Given the description of an element on the screen output the (x, y) to click on. 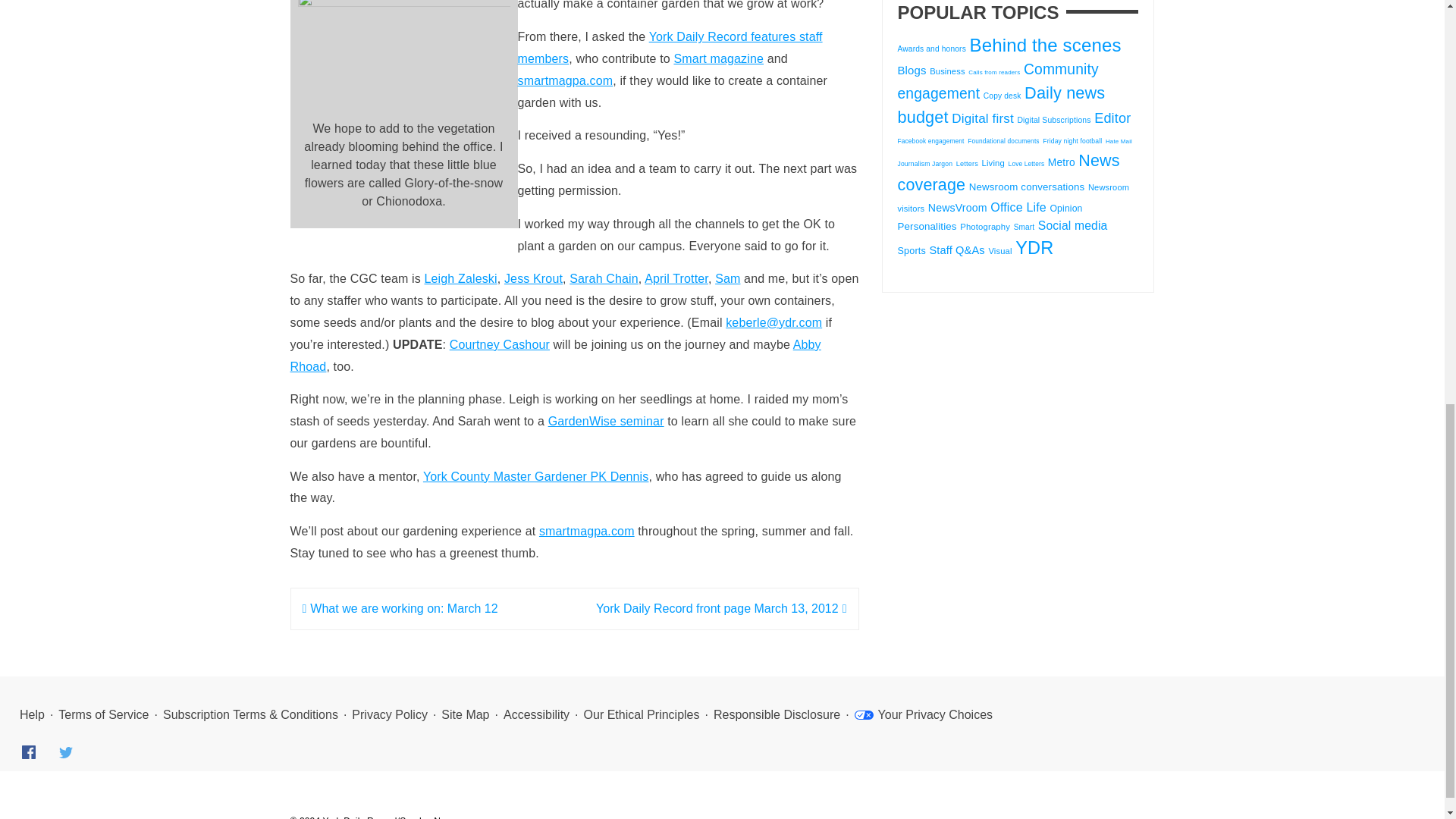
flowers (403, 55)
Leigh Zaleski (461, 278)
York County Master Gardener PK Dennis (536, 476)
Jess Krout (532, 278)
Abby Rhoad (555, 355)
April Trotter (676, 278)
Smart magazine (717, 58)
What we are working on: March 12 (399, 608)
smartmagpa.com (564, 80)
Awards and honors (932, 49)
